Given the description of an element on the screen output the (x, y) to click on. 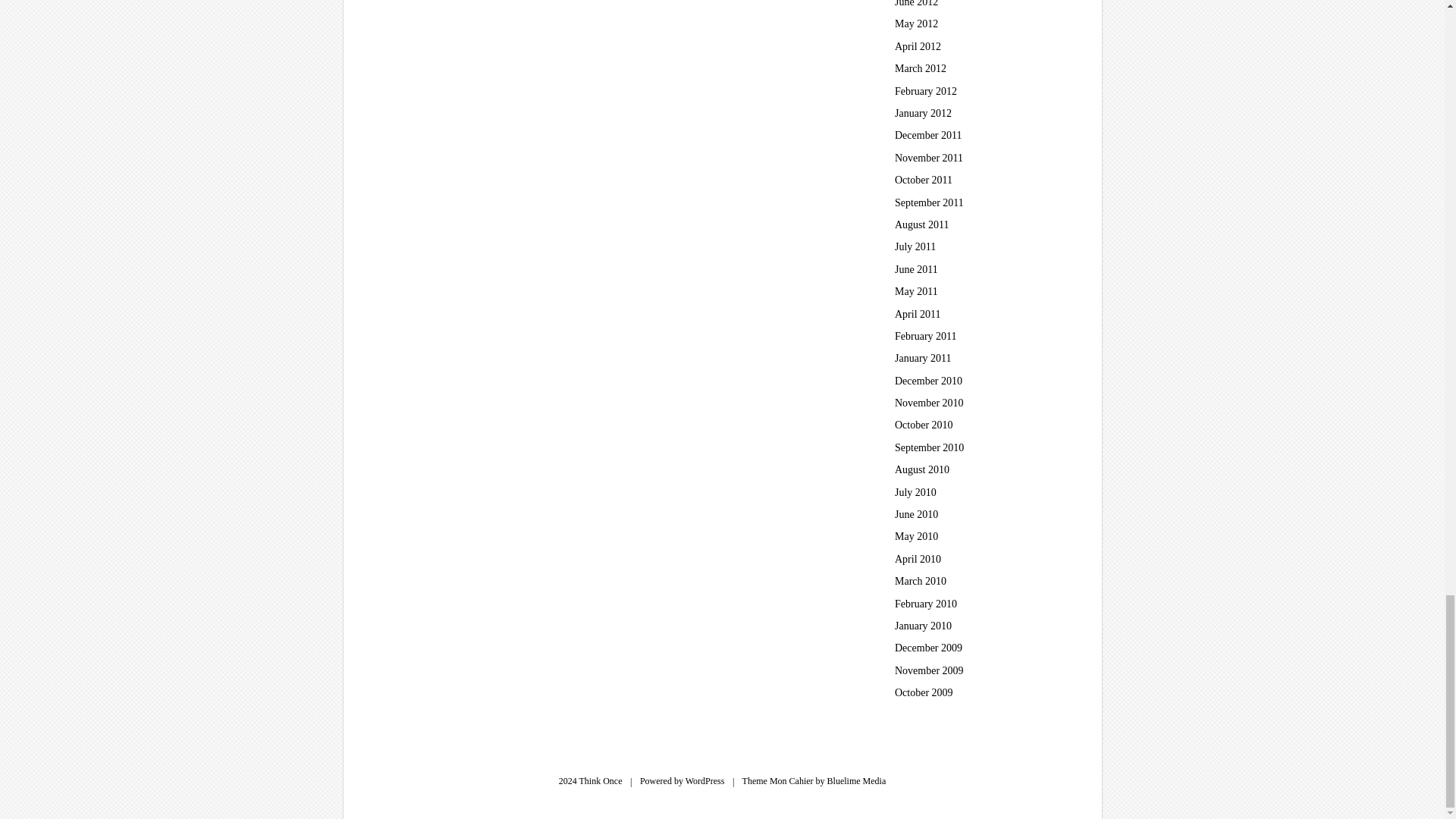
Semantic Personal Publishing Platform (705, 780)
Bluelime Media (856, 780)
